Given the description of an element on the screen output the (x, y) to click on. 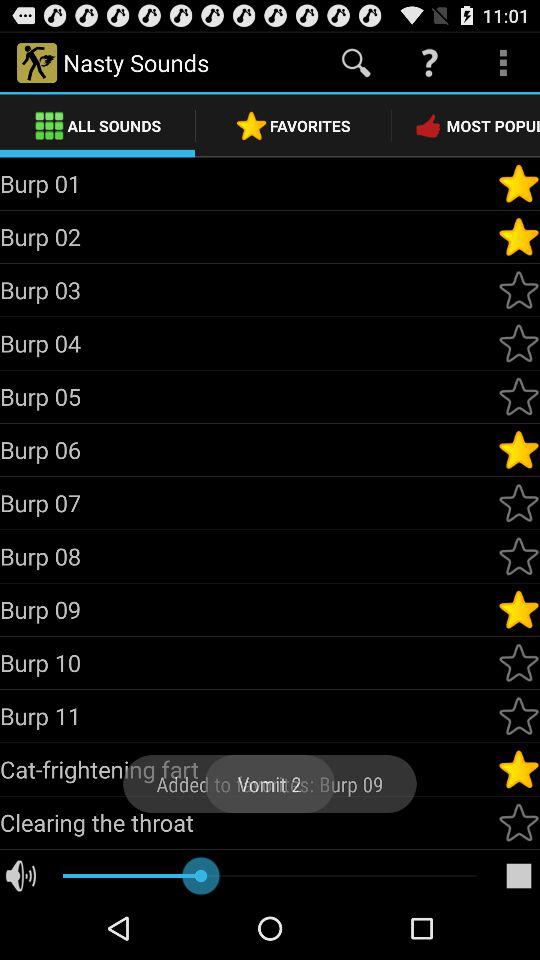
tap burp 11 (248, 715)
